Given the description of an element on the screen output the (x, y) to click on. 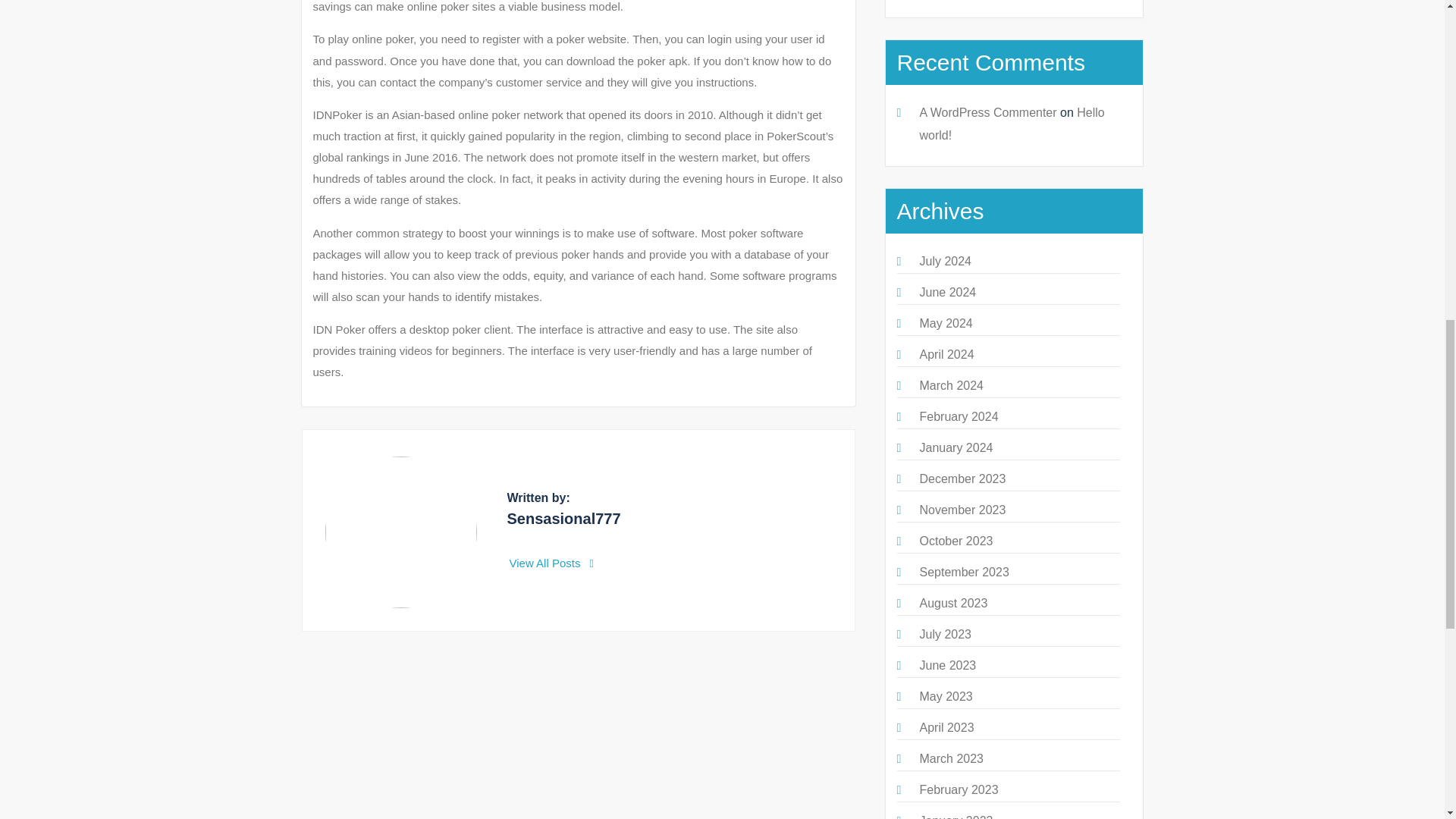
July 2024 (944, 260)
February 2024 (957, 416)
Hello world! (1010, 123)
October 2023 (955, 540)
May 2024 (945, 323)
June 2023 (946, 665)
March 2024 (951, 385)
April 2024 (946, 354)
A WordPress Commenter (987, 112)
December 2023 (962, 478)
View All Posts (551, 562)
November 2023 (962, 509)
August 2023 (952, 603)
February 2023 (957, 789)
September 2023 (963, 571)
